Given the description of an element on the screen output the (x, y) to click on. 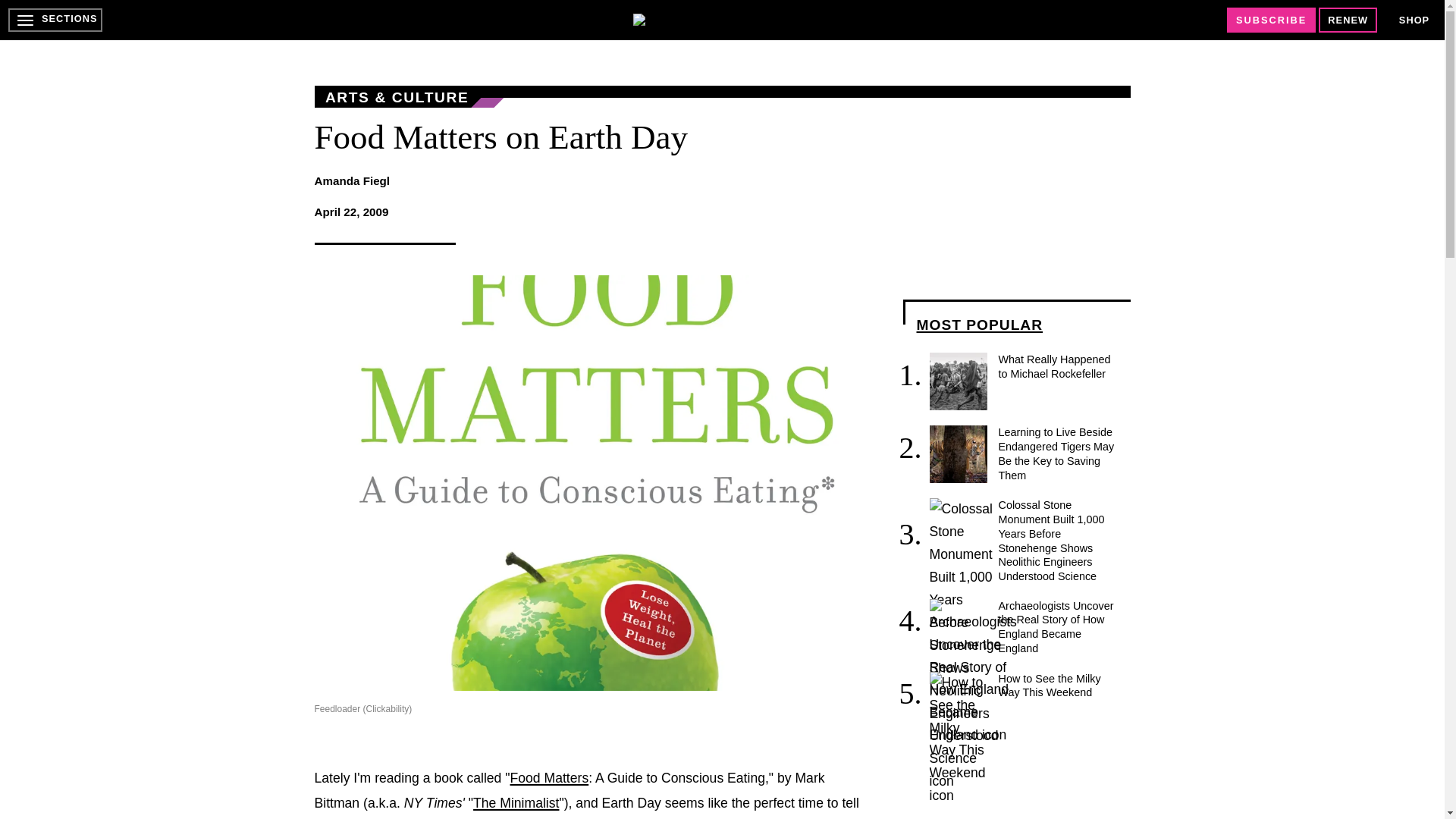
New York Times blog (516, 802)
SUBSCRIBE (1271, 19)
SHOP (1414, 19)
RENEW (1347, 19)
SHOP (1413, 19)
SECTIONS (55, 19)
SUBSCRIBE (1271, 19)
RENEW (1348, 19)
